Given the description of an element on the screen output the (x, y) to click on. 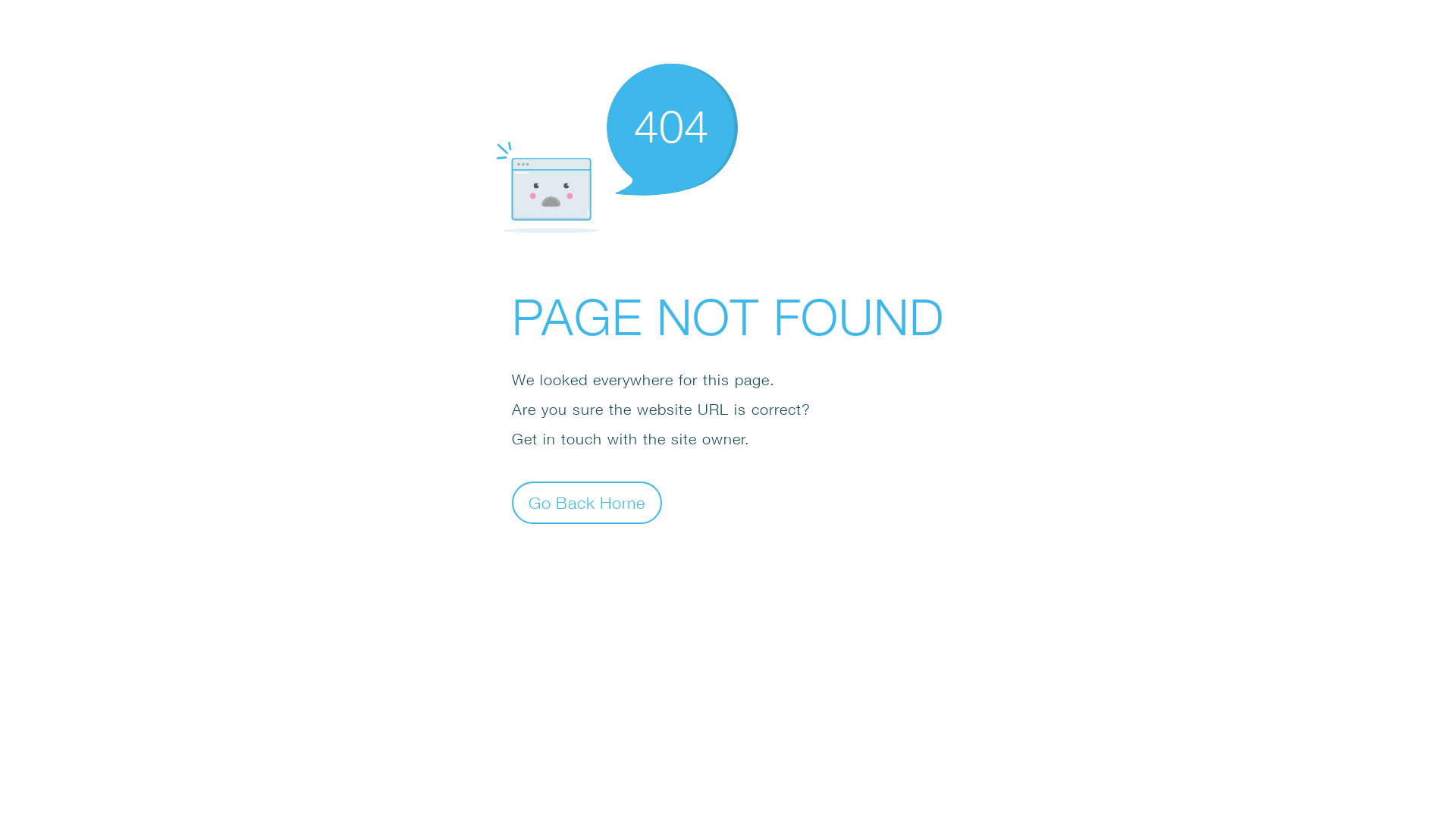
Go Back Home Element type: text (586, 502)
